Given the description of an element on the screen output the (x, y) to click on. 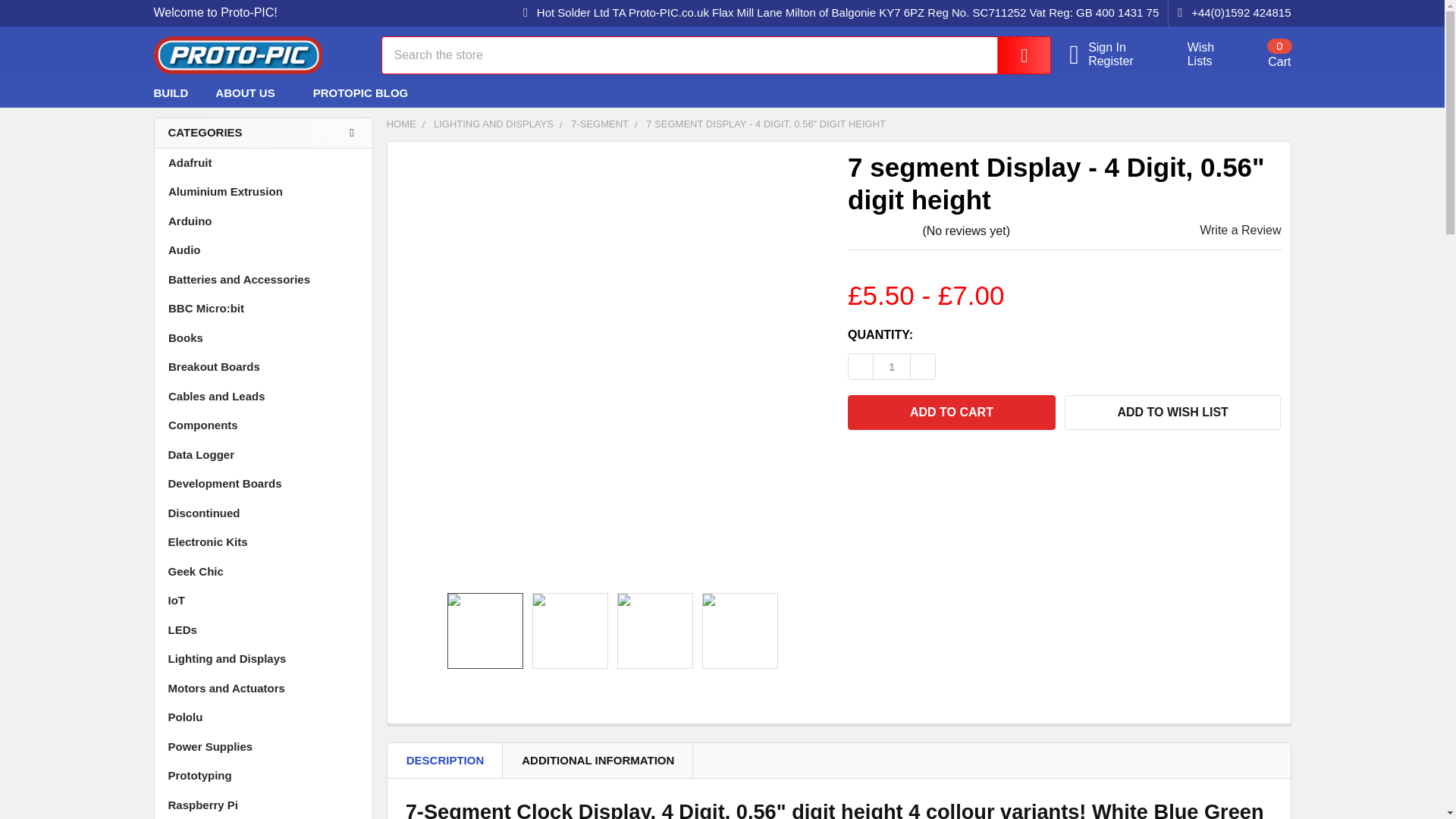
Search (1192, 54)
Proto-PIC (1013, 55)
1 (236, 55)
Pinterest (891, 366)
Youtube (1276, 92)
Cart (1222, 92)
Register (1260, 54)
Linkedin (1119, 60)
Rss (1167, 92)
Add to Cart (1249, 92)
Sign In (951, 411)
Search (1260, 54)
Wish Lists (1119, 47)
